Given the description of an element on the screen output the (x, y) to click on. 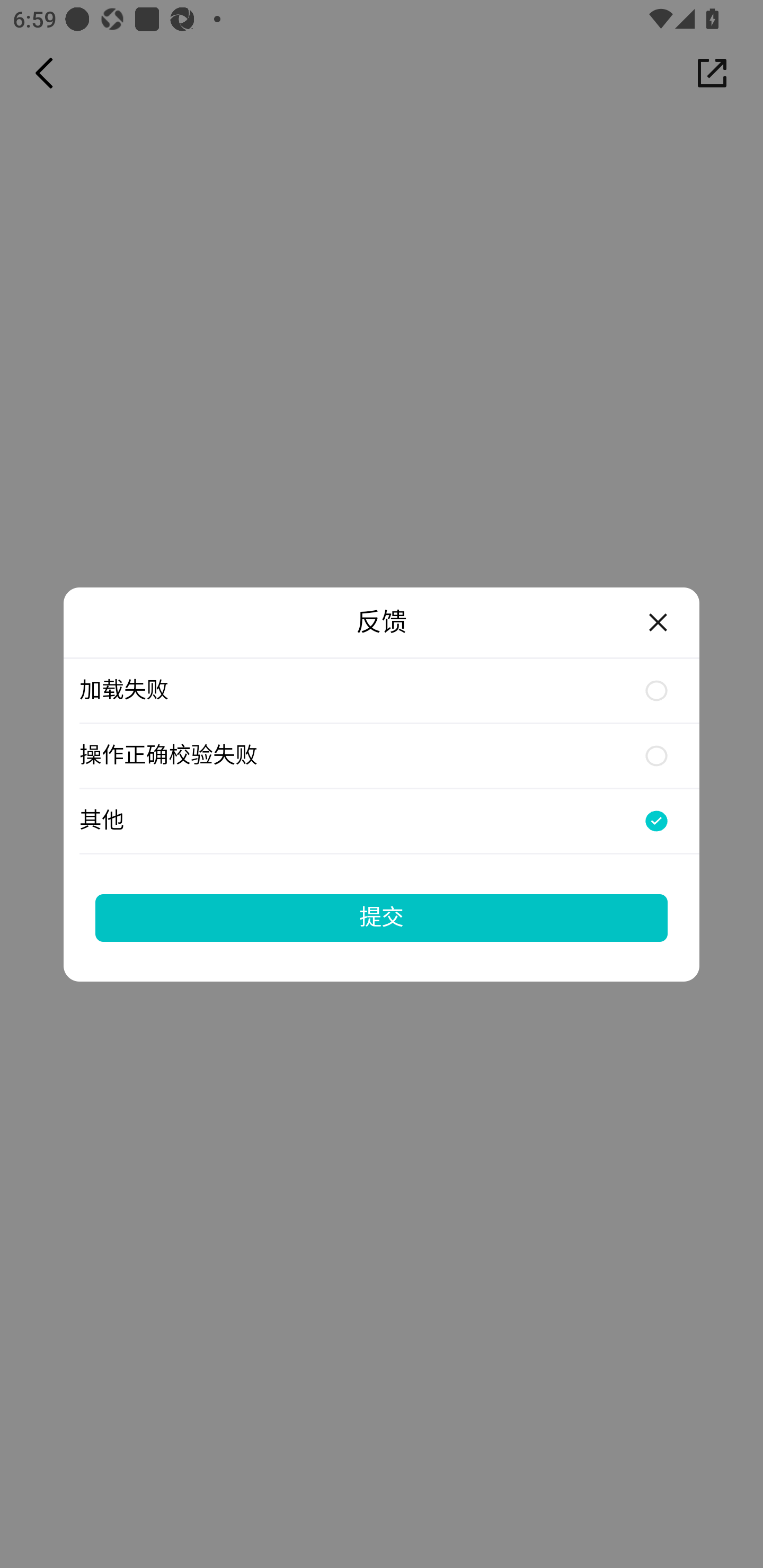
提交 (381, 917)
